Given the description of an element on the screen output the (x, y) to click on. 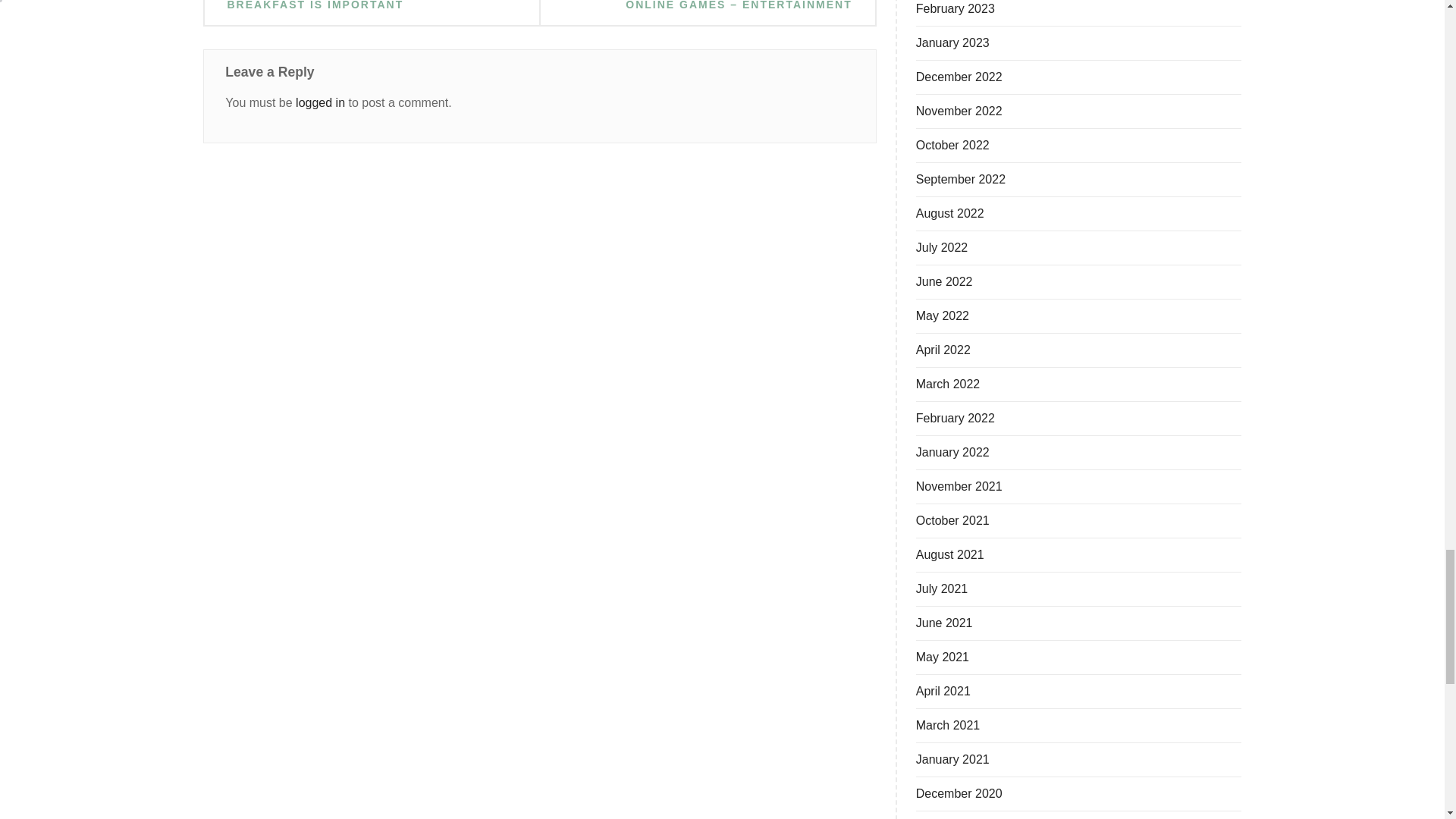
BREAKFAST IS IMPORTANT (314, 6)
